Given the description of an element on the screen output the (x, y) to click on. 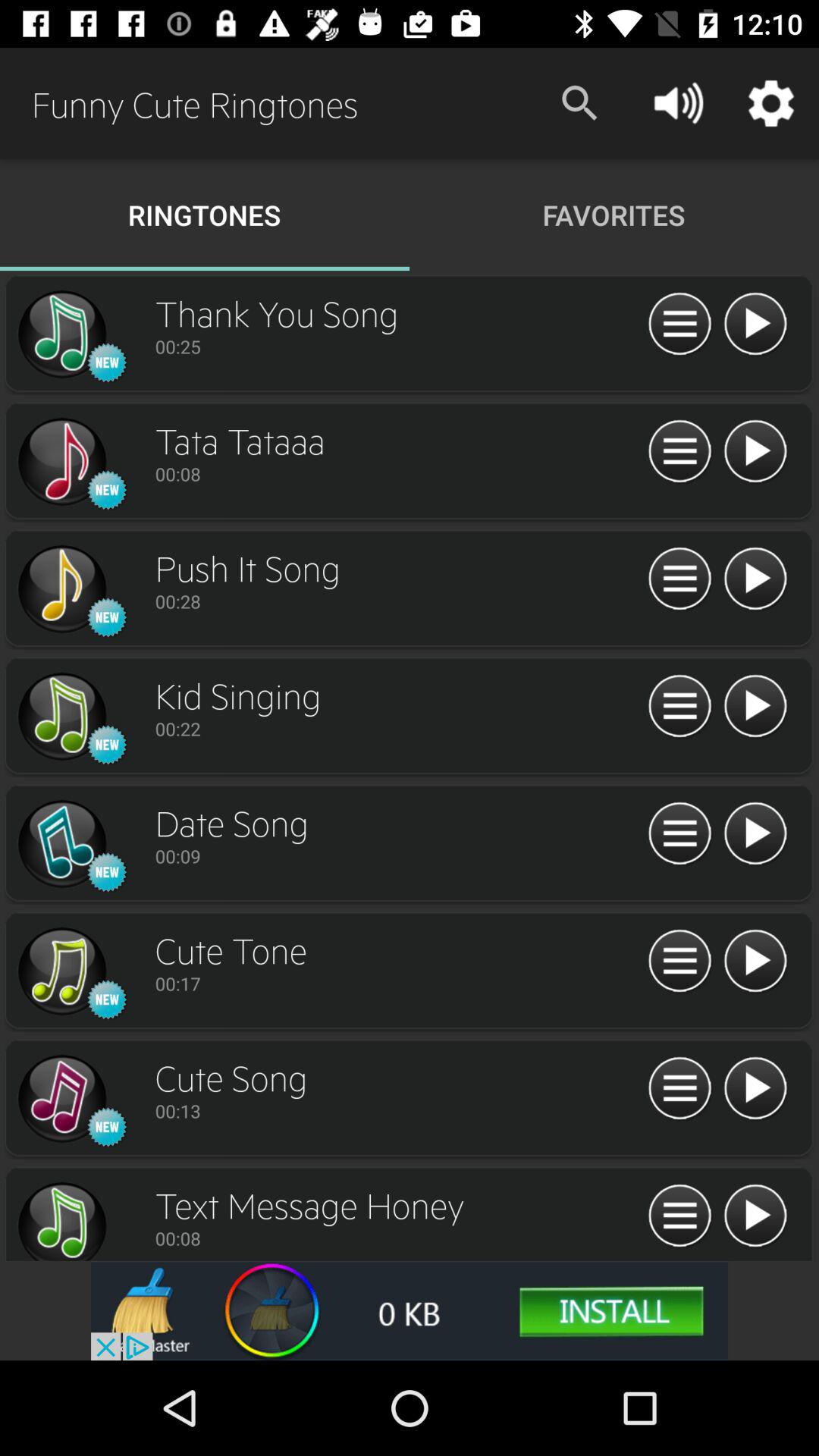
menu page (679, 834)
